Given the description of an element on the screen output the (x, y) to click on. 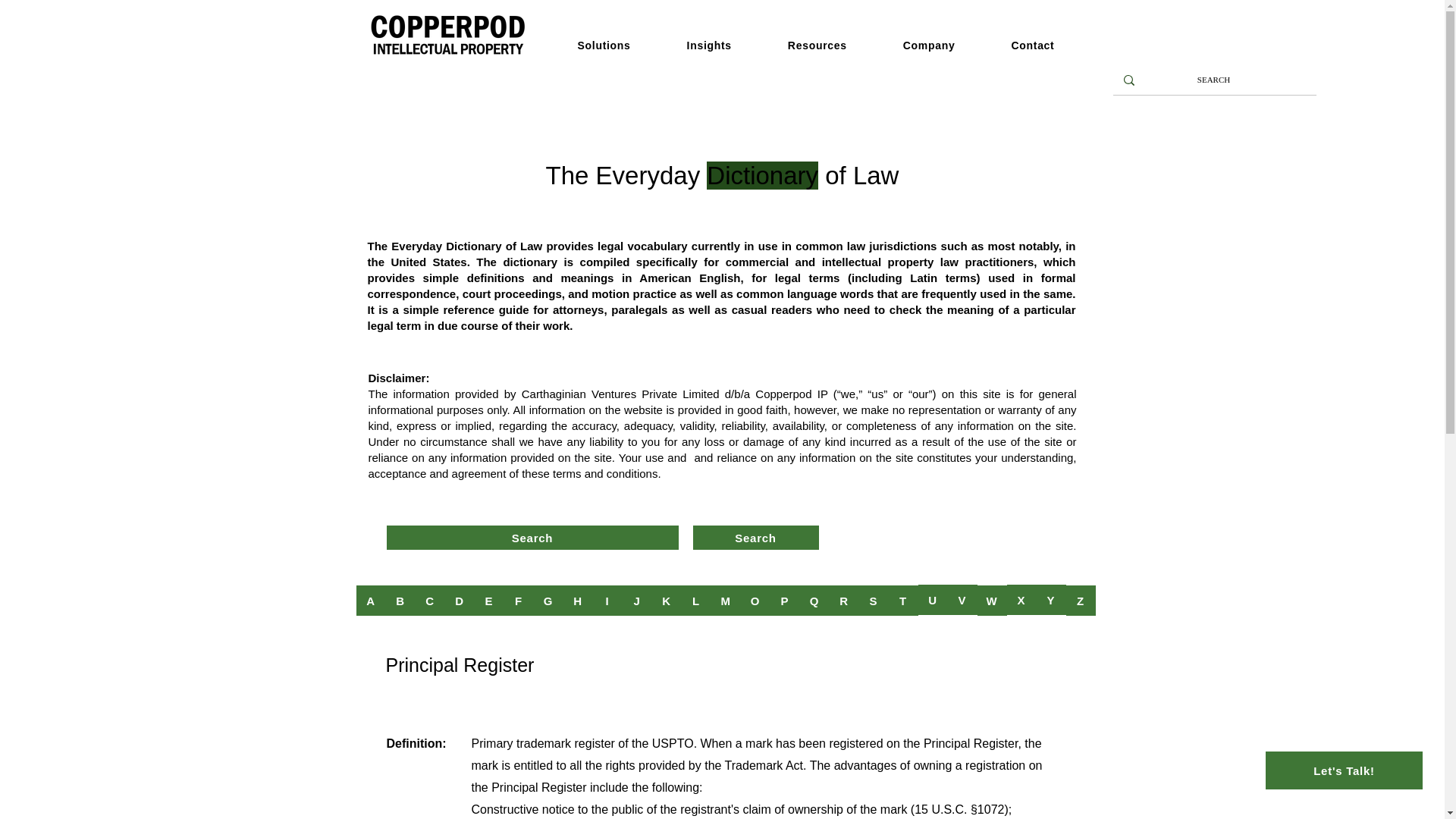
Search (755, 537)
A (370, 600)
Insights (721, 45)
Search (532, 537)
B (399, 600)
Contact (1045, 45)
